Given the description of an element on the screen output the (x, y) to click on. 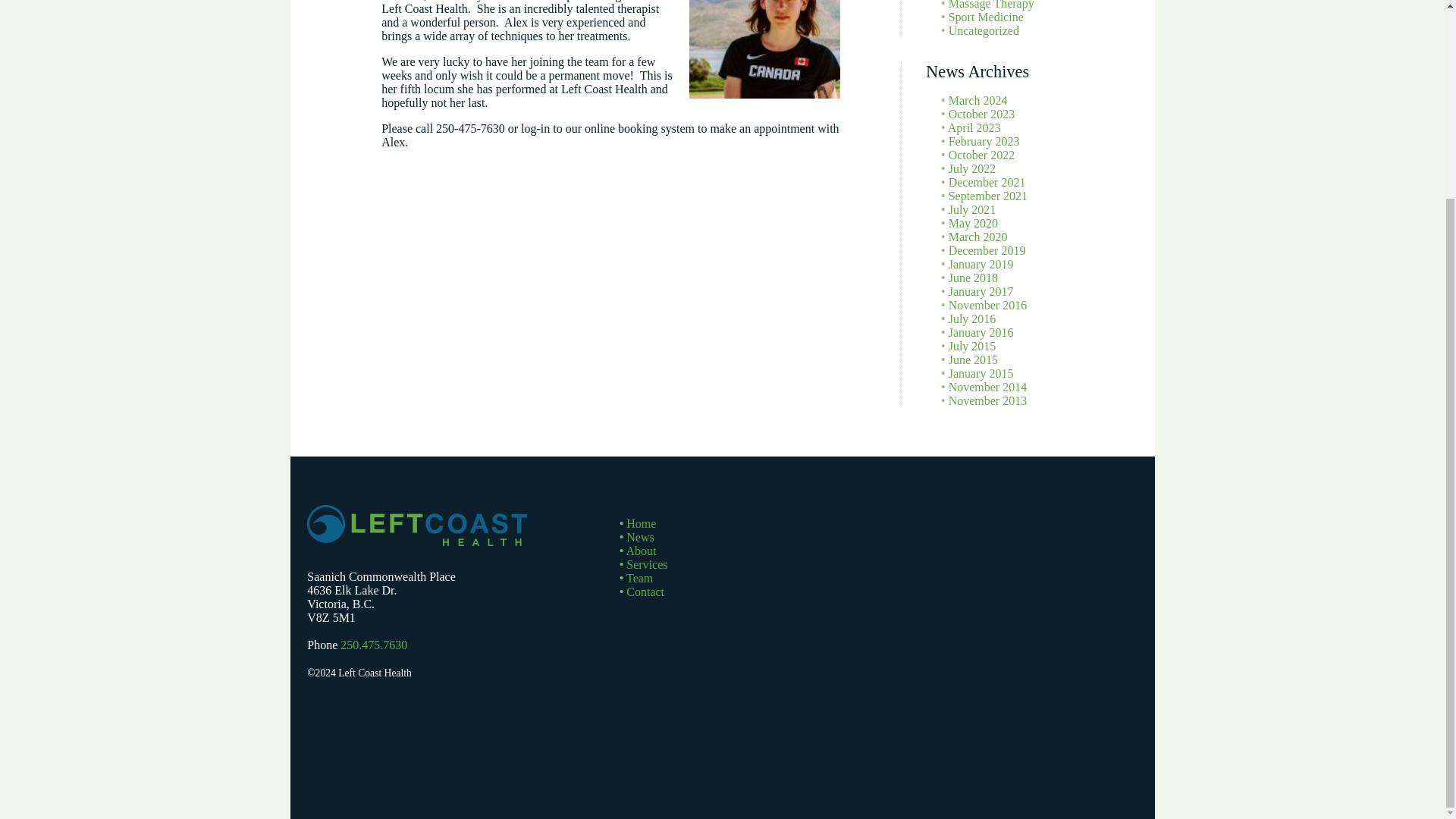
December 2019 (987, 250)
July 2022 (972, 168)
May 2020 (973, 223)
Massage Therapy (991, 4)
July 2015 (972, 345)
Left Coast Health (417, 525)
July 2016 (972, 318)
March 2020 (978, 236)
January 2016 (981, 332)
June 2015 (973, 359)
July 2021 (972, 209)
Sport Medicine (986, 16)
December 2021 (987, 182)
January 2019 (981, 264)
January 2015 (981, 373)
